Given the description of an element on the screen output the (x, y) to click on. 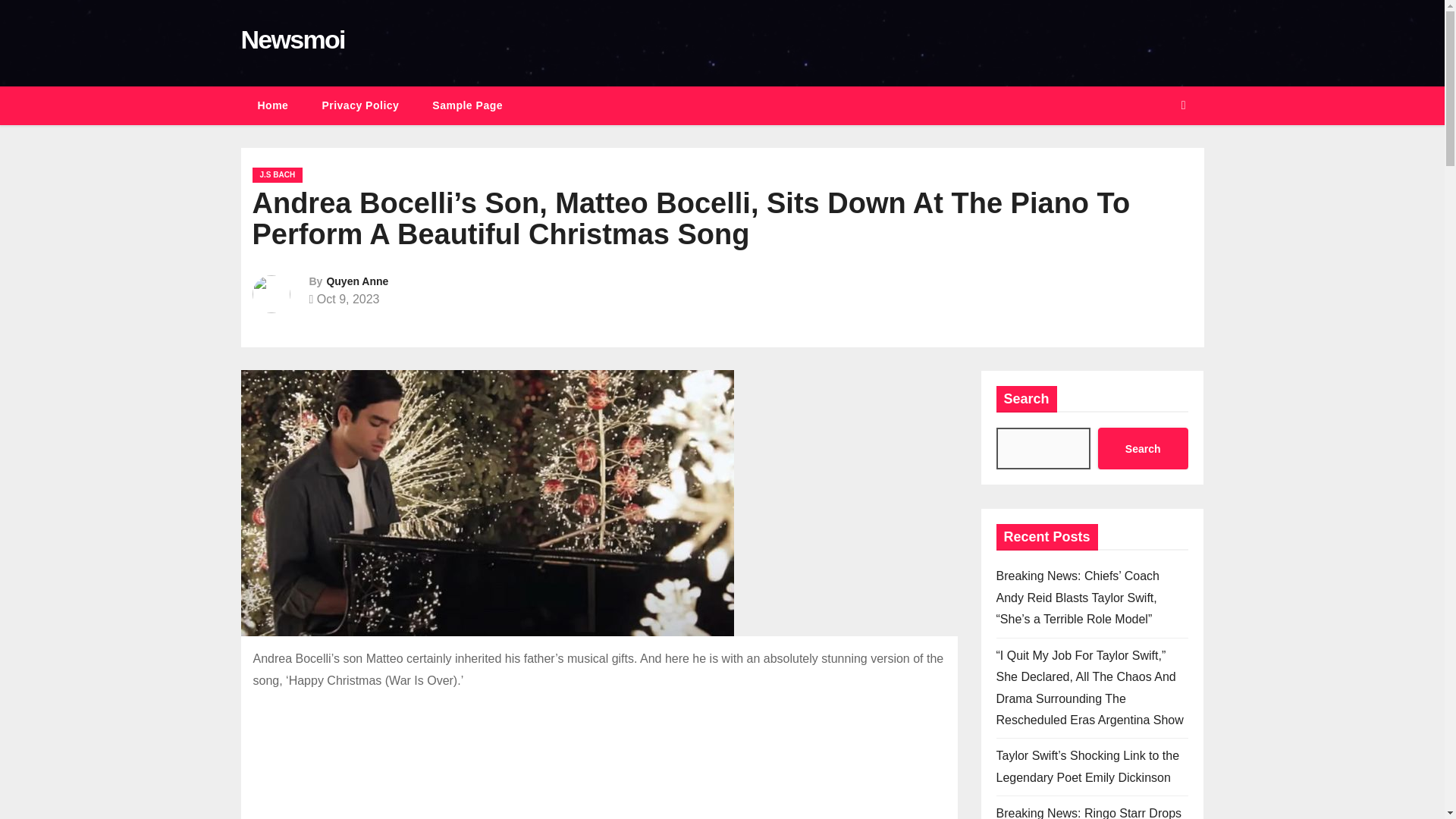
Privacy Policy (359, 105)
Home (273, 105)
Home (273, 105)
J.S BACH (276, 174)
Sample Page (466, 105)
Newsmoi (293, 39)
Quyen Anne (357, 281)
